Given the description of an element on the screen output the (x, y) to click on. 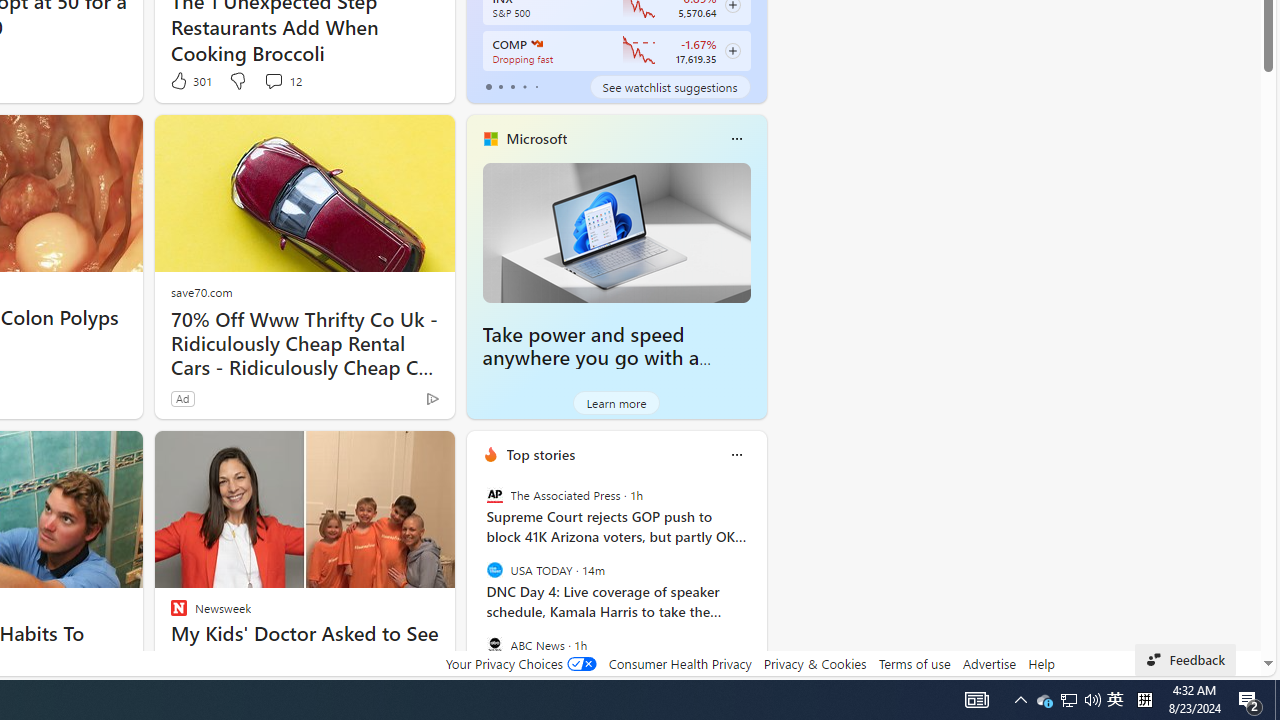
Consumer Health Privacy (680, 663)
Hide this story (393, 454)
tab-4 (535, 86)
View comments 12 Comment (273, 80)
View comments 12 Comment (281, 80)
Top stories (540, 454)
Learn more (616, 402)
ABC News (494, 644)
tab-3 (524, 86)
tab-0 (488, 86)
See watchlist suggestions (669, 86)
Class: follow-button  m (732, 51)
tab-2 (511, 86)
